Given the description of an element on the screen output the (x, y) to click on. 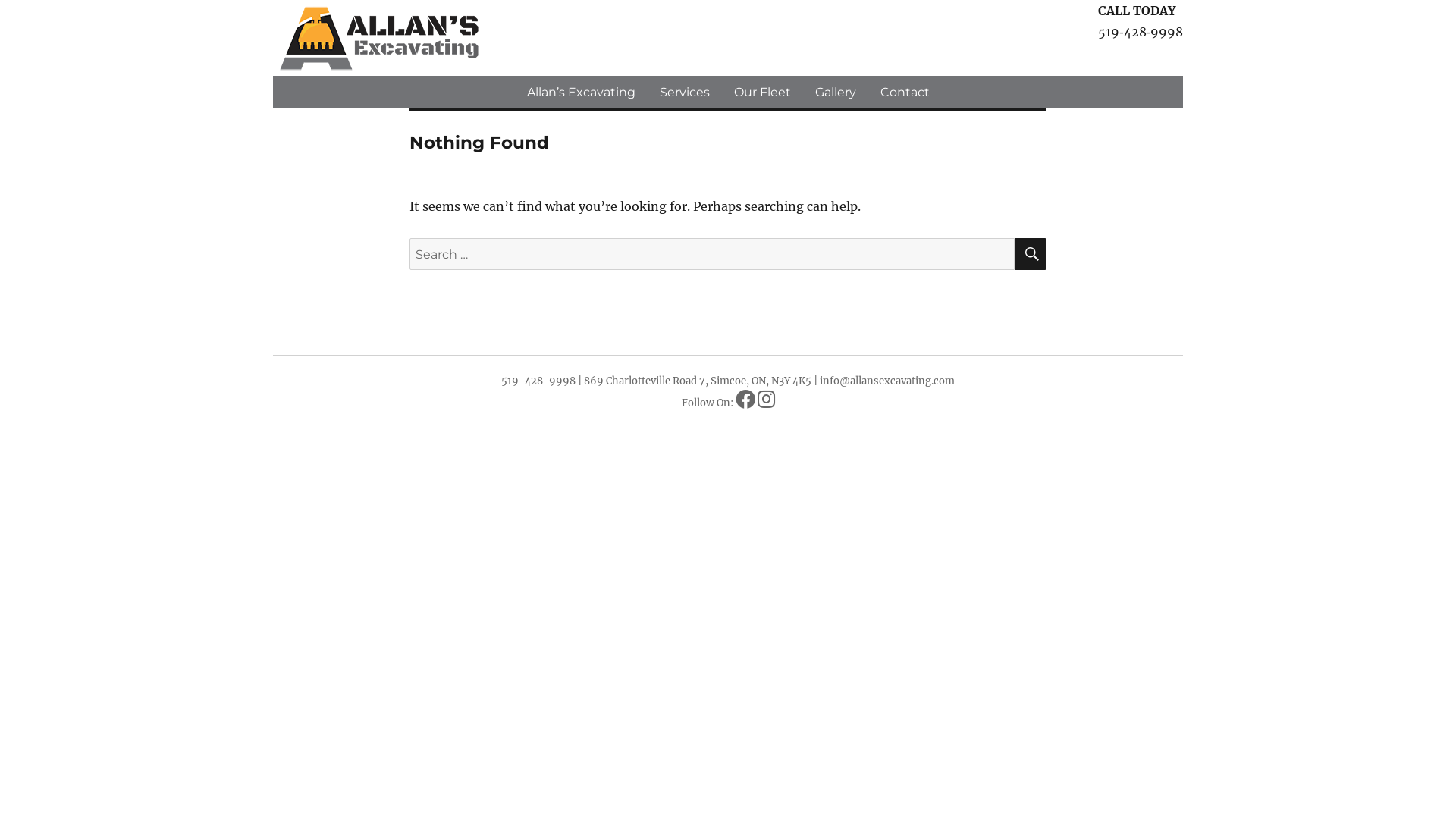
SEARCH Element type: text (1030, 253)
Our Fleet Element type: text (762, 91)
Services Element type: text (684, 91)
Contact Element type: text (904, 91)
Gallery Element type: text (834, 91)
